Given the description of an element on the screen output the (x, y) to click on. 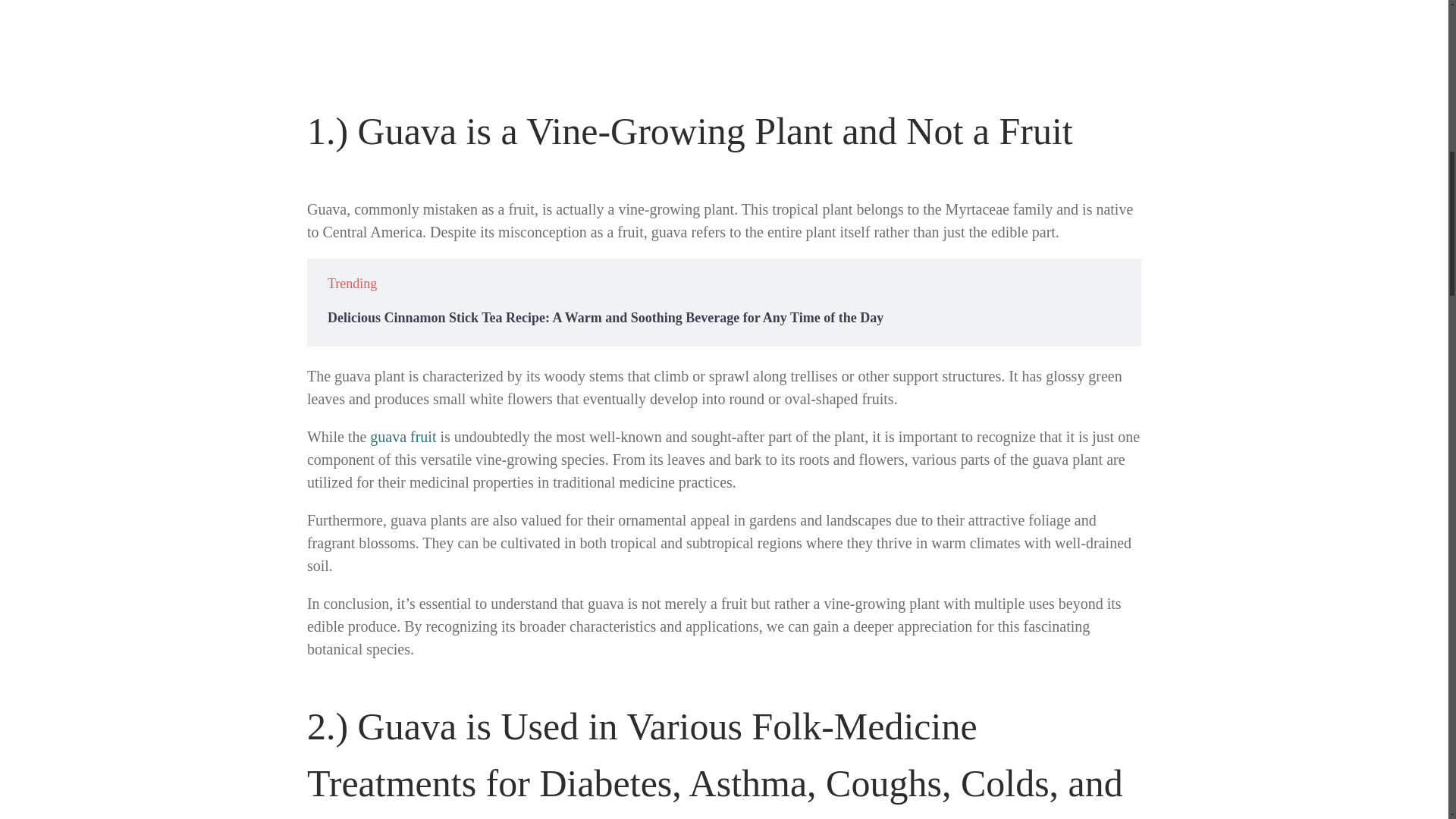
guava fruit (402, 436)
5-Surprising-Guava-Facts (724, 32)
